Given the description of an element on the screen output the (x, y) to click on. 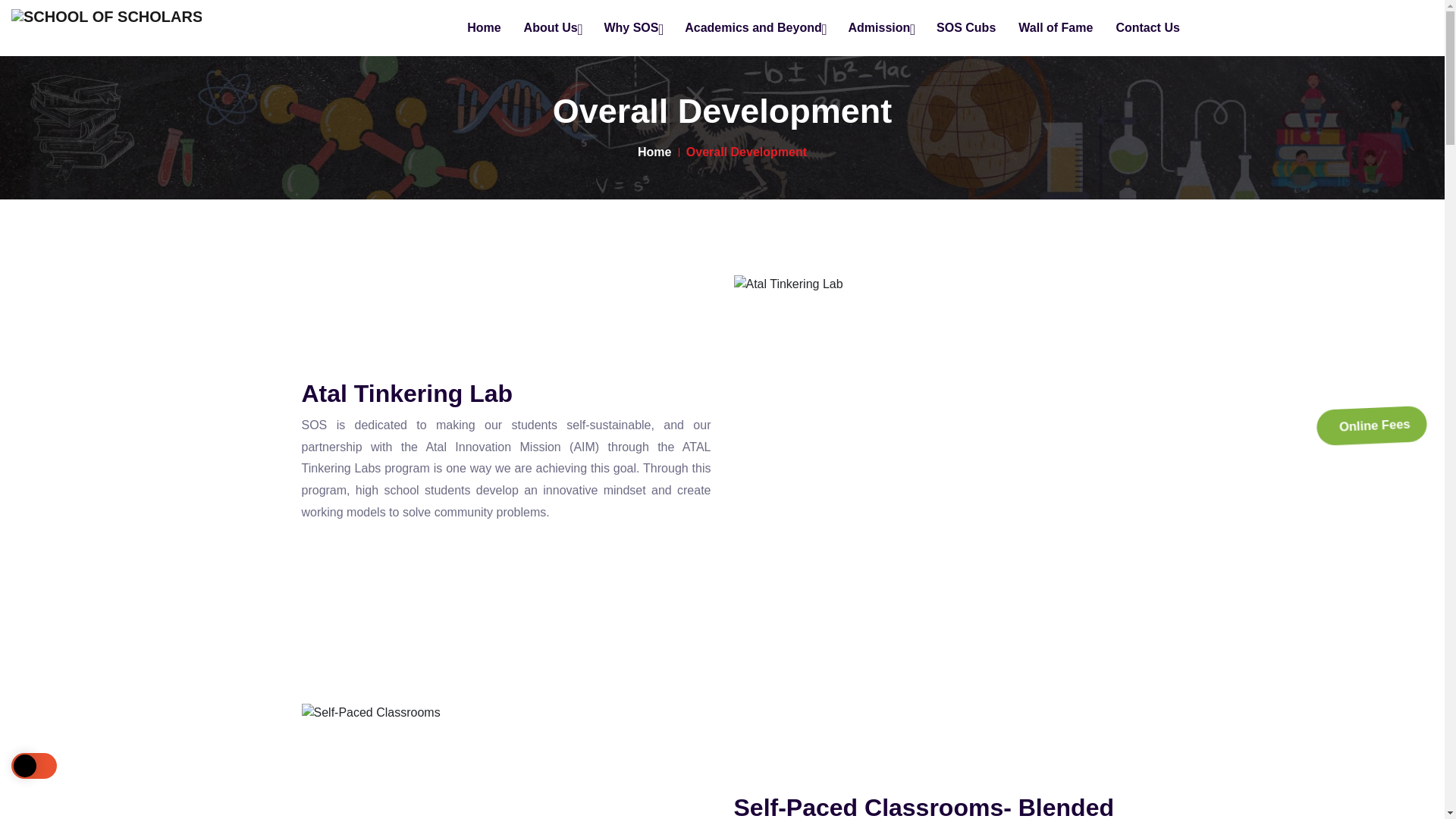
SOS Cubs (965, 28)
Academics and Beyond (754, 28)
Wall of Fame (1055, 28)
Why SOS (633, 28)
Home (654, 152)
Admission (880, 28)
About Us (552, 28)
Contact Us (1147, 28)
